Given the description of an element on the screen output the (x, y) to click on. 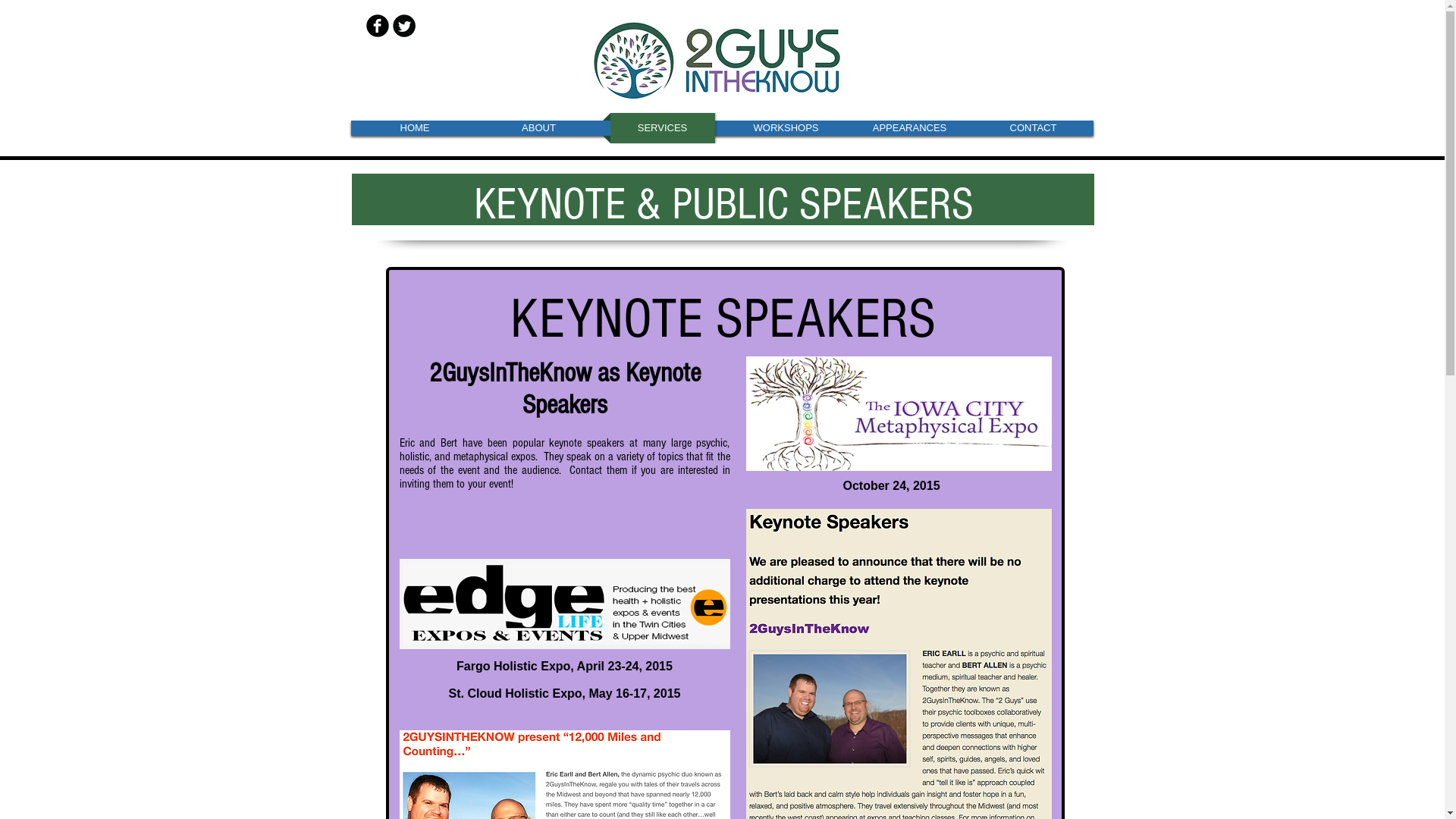
SERVICES Element type: text (661, 127)
WORKSHOPS Element type: text (786, 127)
CONTACT Element type: text (1033, 127)
HOME Element type: text (414, 127)
ABOUT Element type: text (539, 127)
APPEARANCES Element type: text (909, 127)
